Given the description of an element on the screen output the (x, y) to click on. 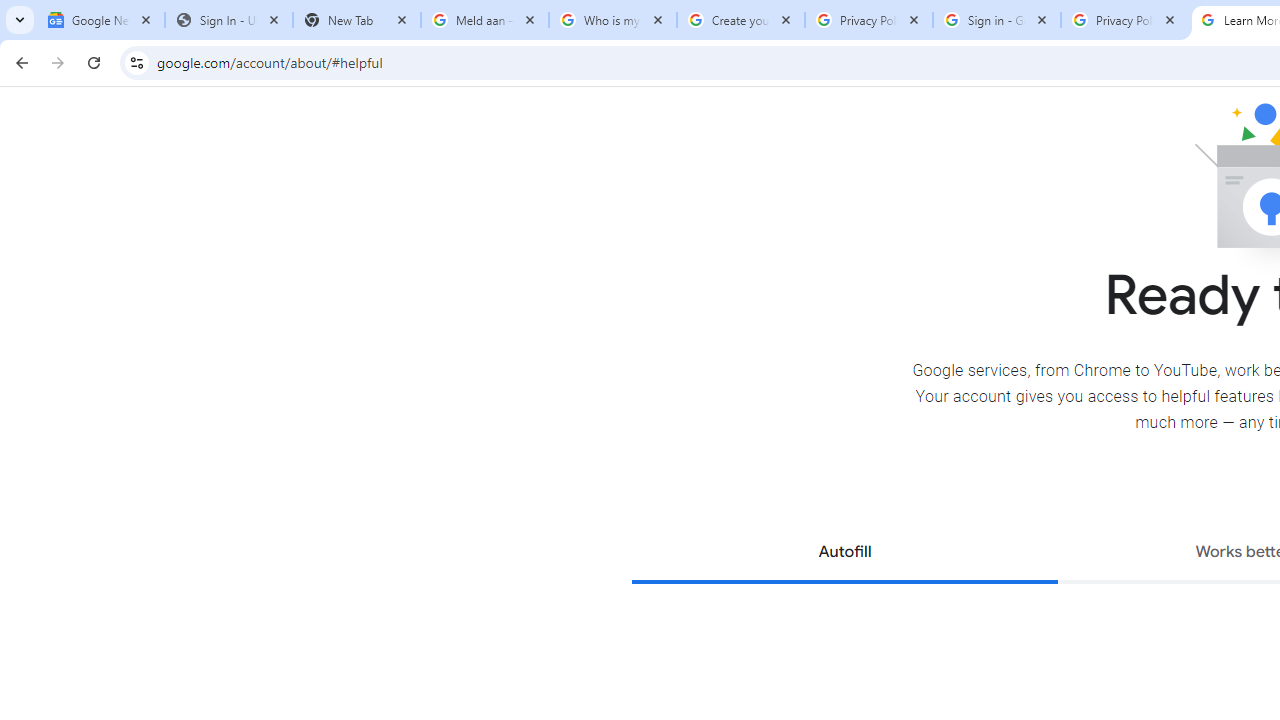
Create your Google Account (741, 20)
